Given the description of an element on the screen output the (x, y) to click on. 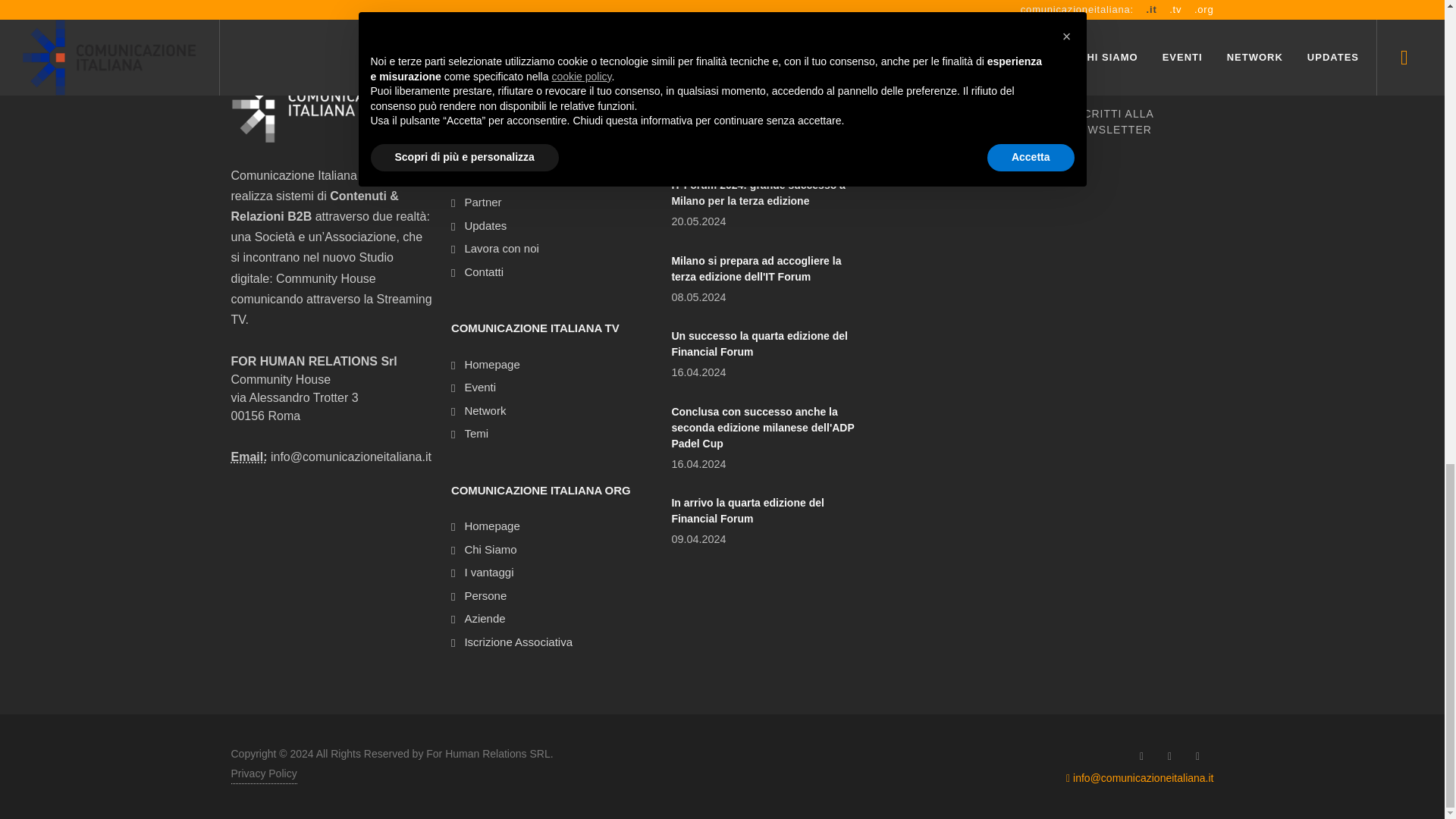
Partner (478, 202)
Homepage (487, 109)
Eventi (475, 387)
Lavora con noi (497, 248)
Homepage (487, 364)
Homepage (487, 526)
Network (481, 180)
Email Address (248, 456)
Updates (481, 226)
